Given the description of an element on the screen output the (x, y) to click on. 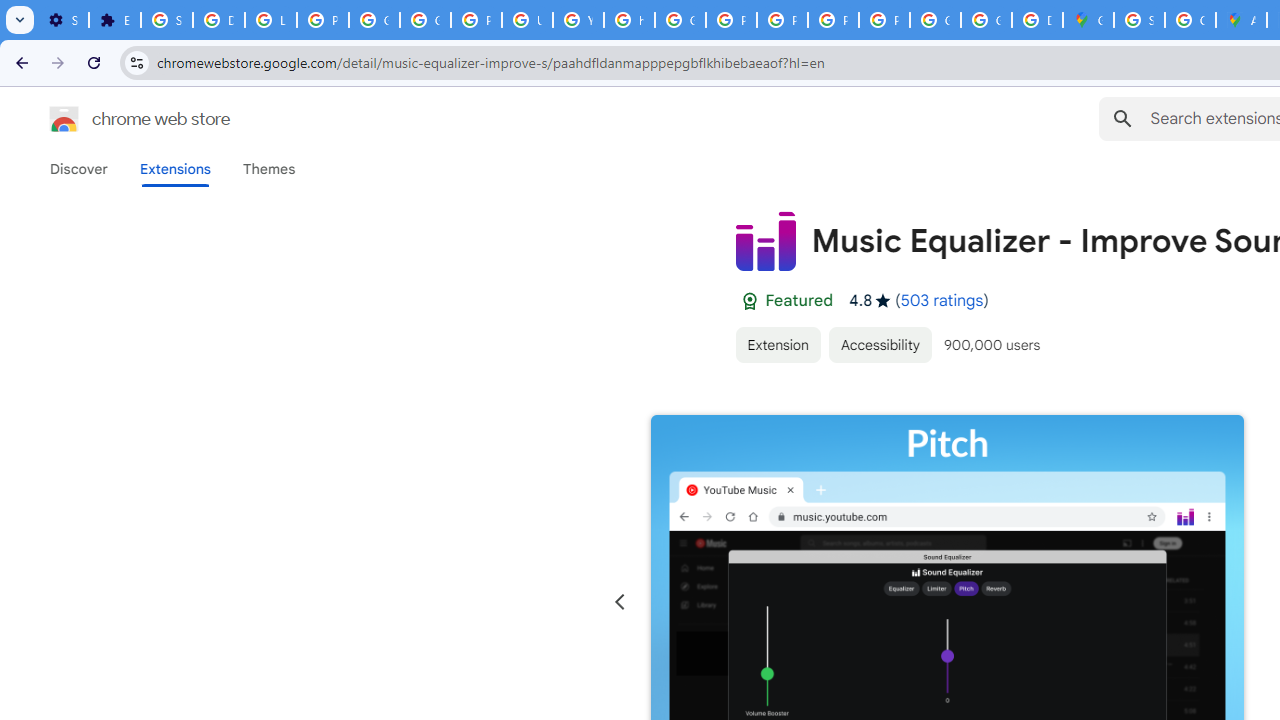
Delete photos & videos - Computer - Google Photos Help (218, 20)
Previous slide (619, 601)
Settings - On startup (63, 20)
Google Account Help (374, 20)
YouTube (578, 20)
Featured Badge (749, 301)
Themes (269, 169)
Google Maps (1087, 20)
